Given the description of an element on the screen output the (x, y) to click on. 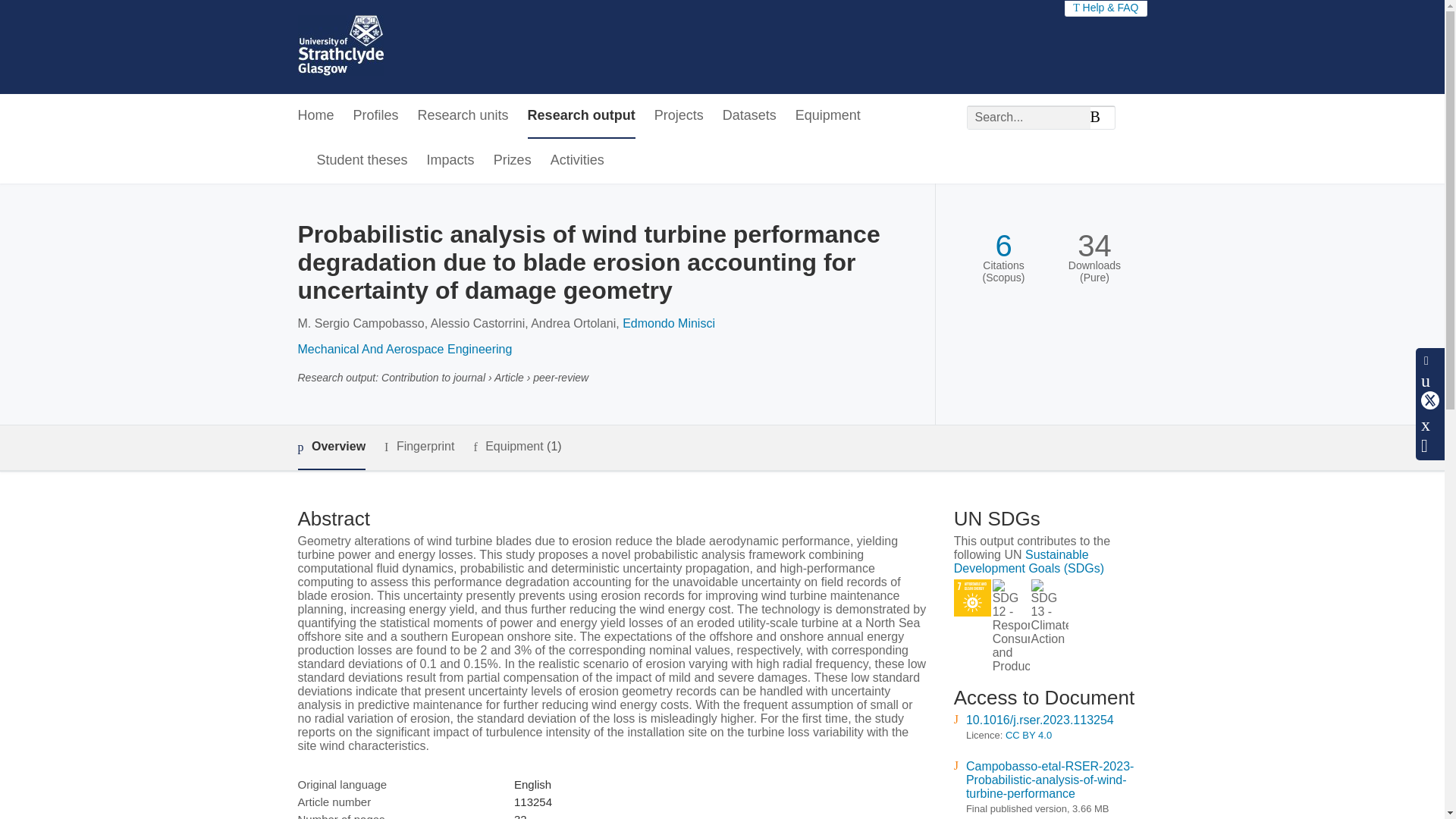
Equipment (827, 116)
Fingerprint (419, 446)
Activities (577, 160)
Overview (331, 447)
Research units (462, 116)
SDG 7 - Affordable and Clean Energy (972, 597)
Mechanical And Aerospace Engineering (404, 349)
Edmondo Minisci (668, 323)
Student theses (362, 160)
Research output (580, 116)
